Given the description of an element on the screen output the (x, y) to click on. 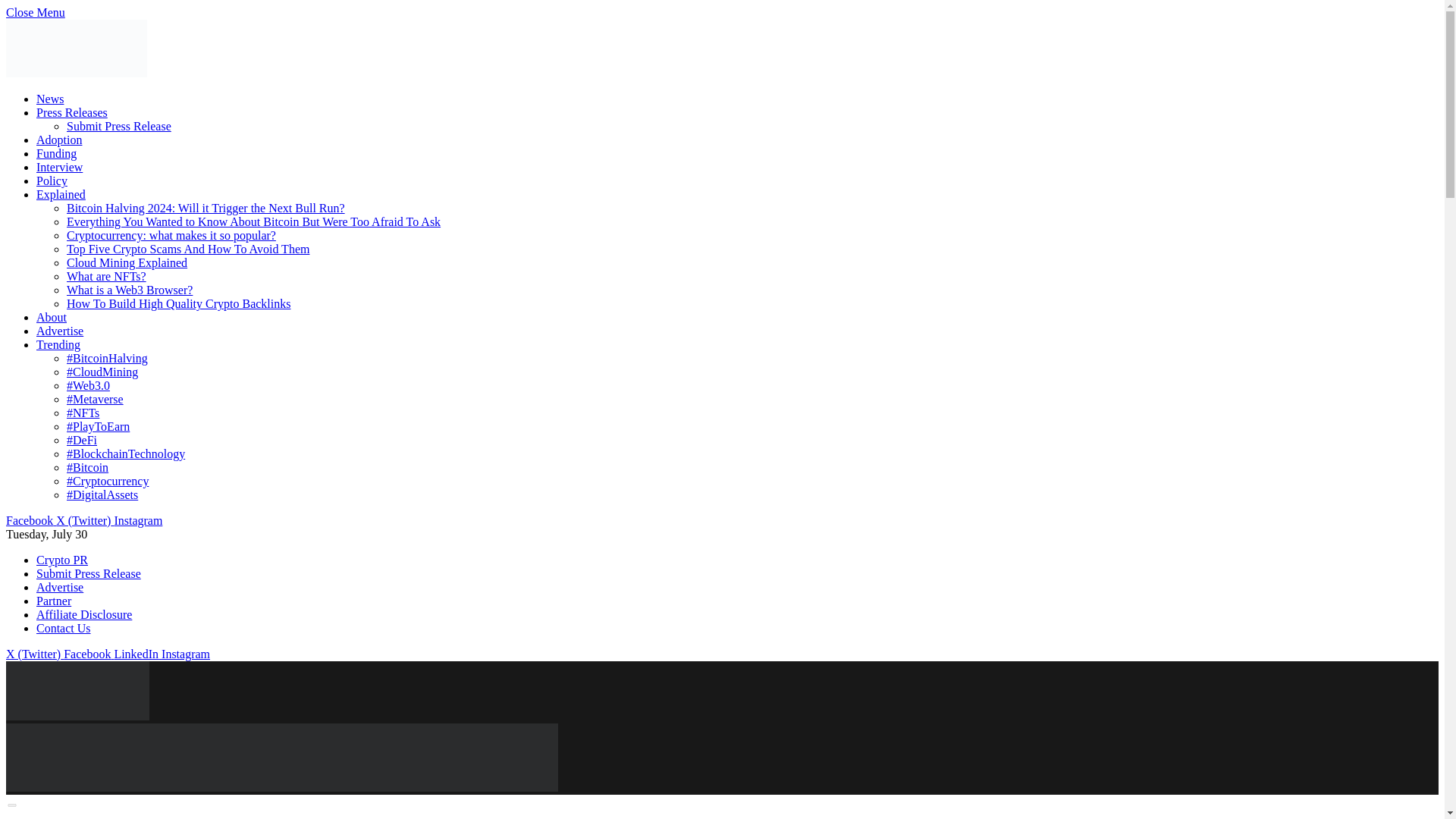
What is a Web3 Browser? (129, 289)
AlexaBlockchain (77, 716)
Contact Us (63, 627)
About (51, 317)
Cloud Mining Explained (126, 262)
What are NFTs? (106, 276)
Explained (60, 194)
Funding (56, 153)
Facebook (30, 520)
Submit Press Release (88, 573)
How To Build High Quality Crypto Backlinks (177, 303)
News (50, 98)
Advertise (59, 586)
Adoption (58, 139)
Crypto PR (61, 559)
